Given the description of an element on the screen output the (x, y) to click on. 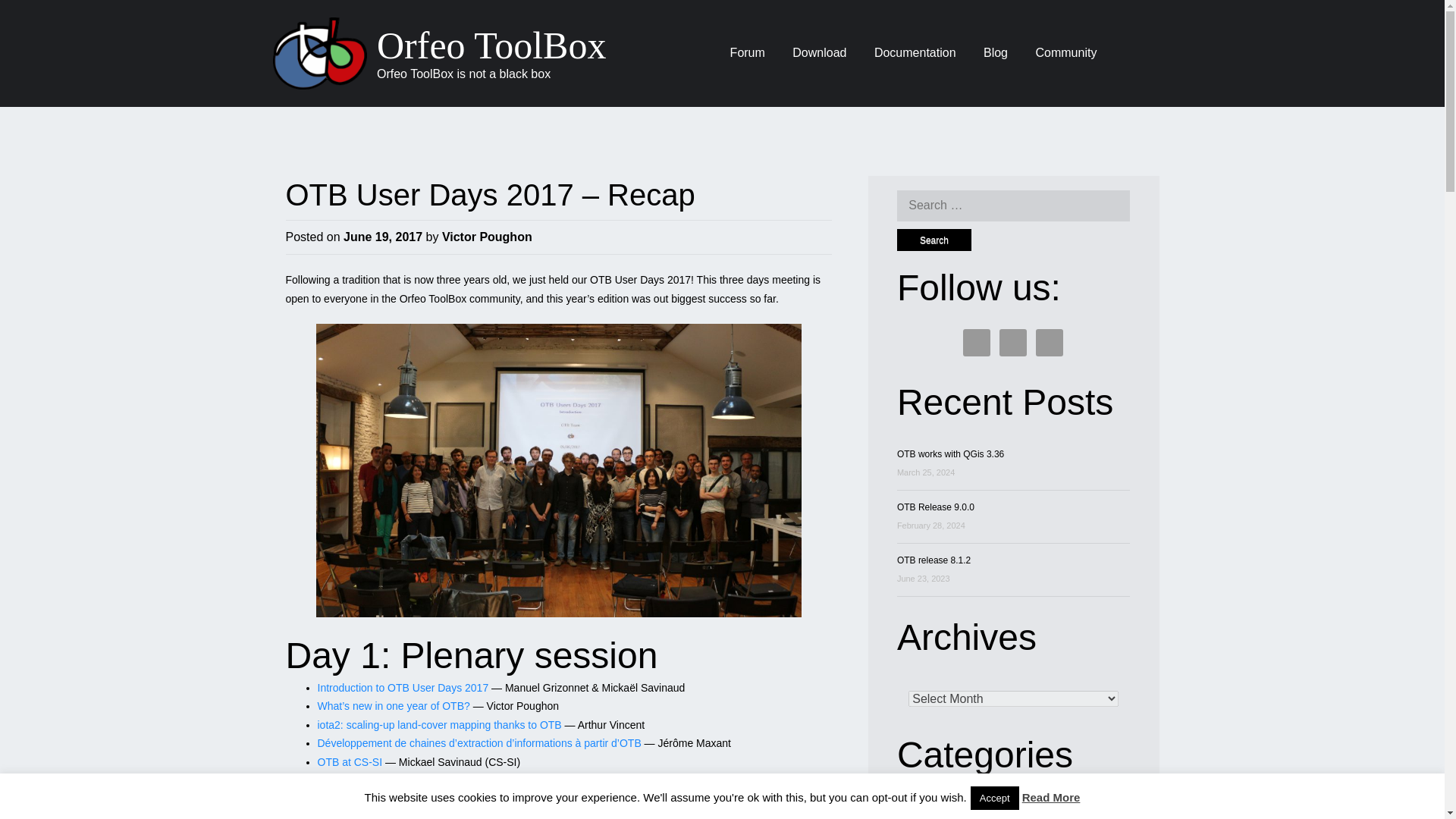
Forum (747, 52)
12:33 (382, 236)
Orfeo ToolBox (492, 45)
Search for: (1012, 205)
Victor Poughon (487, 236)
Orfeo ToolBox (492, 45)
Large scale superpixel segmentation with OTB (426, 815)
View all posts by Victor Poughon (487, 236)
Community (1065, 52)
Documentation (915, 52)
Search (933, 239)
OTB at CS-SI (349, 761)
June 19, 2017 (382, 236)
iota2: scaling-up land-cover mapping thanks to OTB (438, 725)
